Given the description of an element on the screen output the (x, y) to click on. 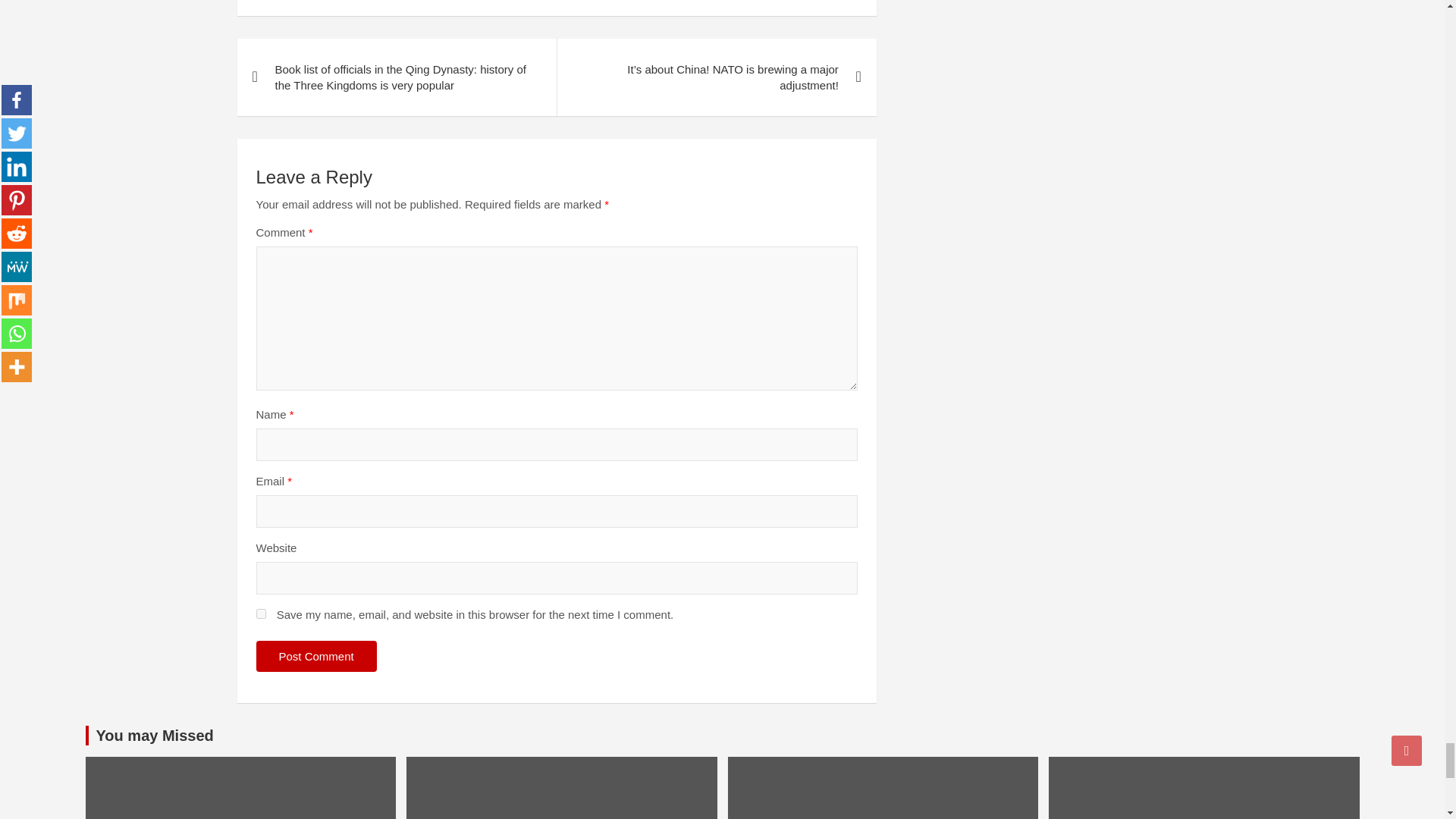
yes (261, 614)
Post Comment (316, 655)
